Given the description of an element on the screen output the (x, y) to click on. 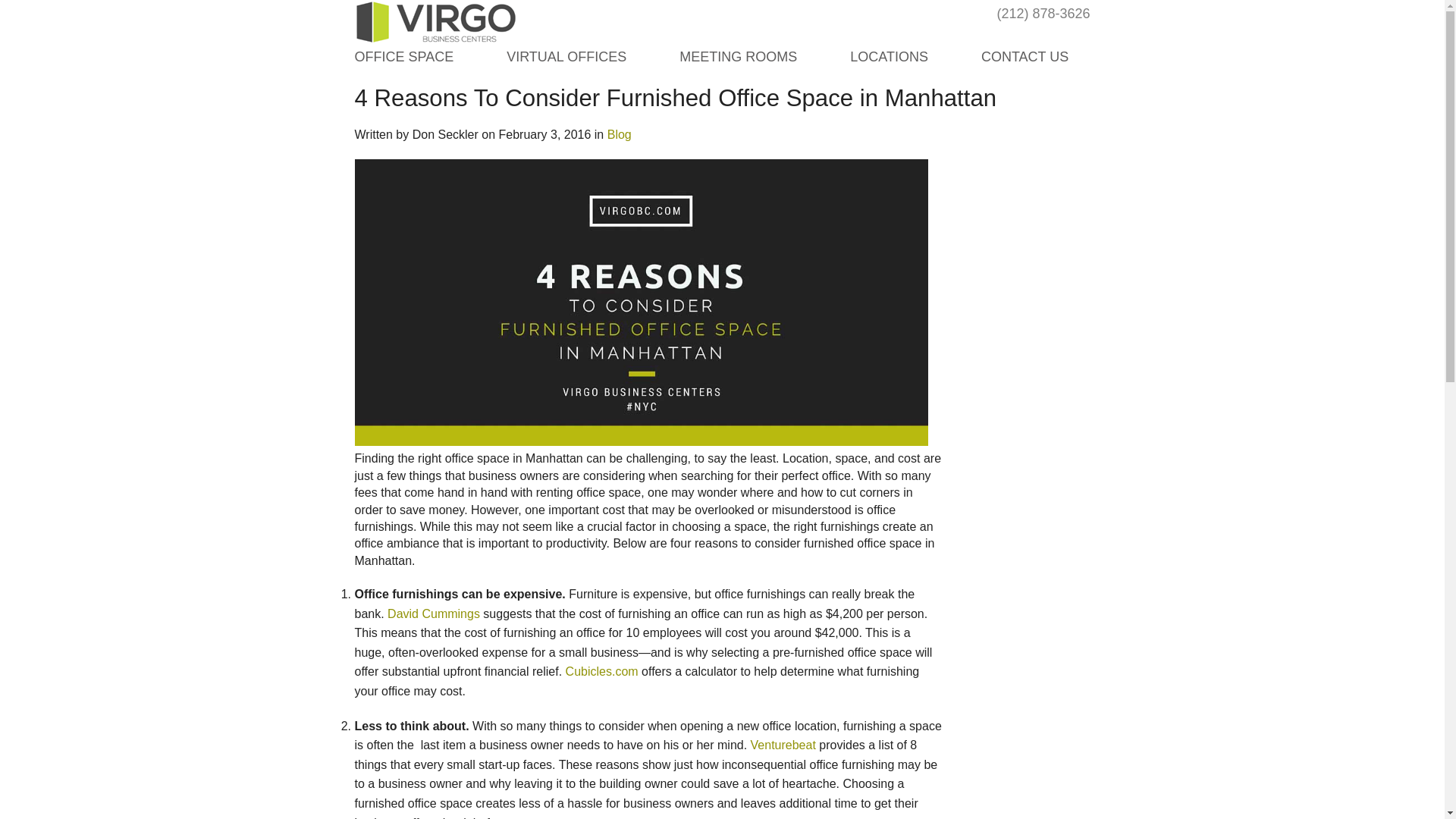
Blog (619, 133)
Venturebeat (783, 744)
CONTACT US (1024, 56)
Cubicles.com (602, 671)
MEETING ROOMS (737, 56)
Virgo Business Centers (437, 22)
VIRTUAL OFFICES (566, 56)
OFFICE SPACE (404, 56)
LOCATIONS (889, 56)
Virgo Business Centers (437, 22)
